Given the description of an element on the screen output the (x, y) to click on. 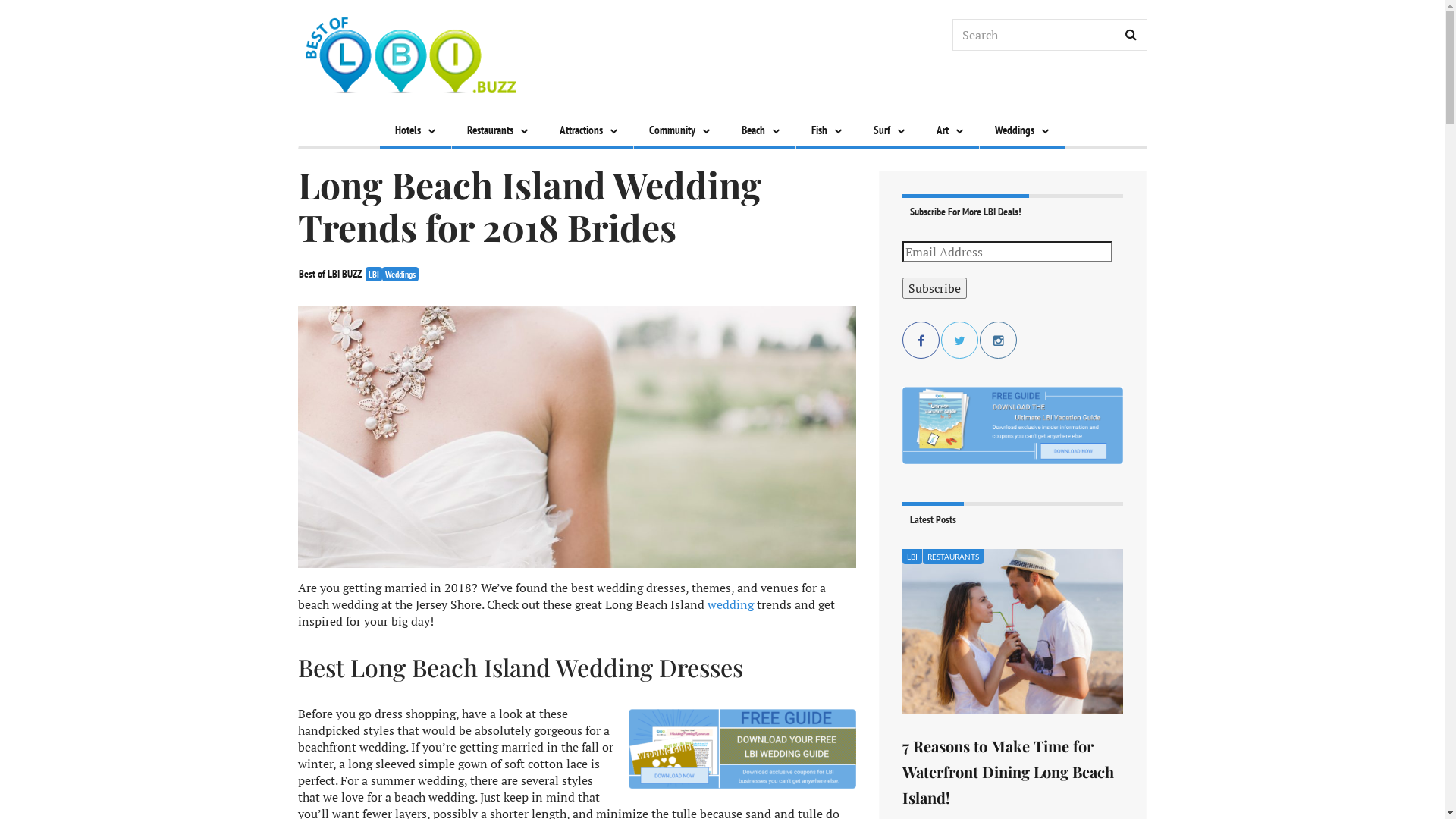
Subscribe Element type: text (934, 287)
Fish Element type: text (826, 132)
Attractions Element type: text (588, 132)
Long Beach Island NJ Vacations -  Element type: hover (410, 56)
LBI Element type: text (912, 556)
LBI Element type: text (373, 273)
Community Element type: text (679, 132)
Hotels Element type: text (414, 132)
Weddings Element type: text (1021, 132)
Beach Element type: text (760, 132)
Surf Element type: text (889, 132)
Restaurants Element type: text (497, 132)
Art Element type: text (949, 132)
Weddings Element type: text (400, 273)
wedding Element type: text (729, 604)
RESTAURANTS Element type: text (952, 556)
Best of LBI BUZZ Element type: text (329, 273)
